Given the description of an element on the screen output the (x, y) to click on. 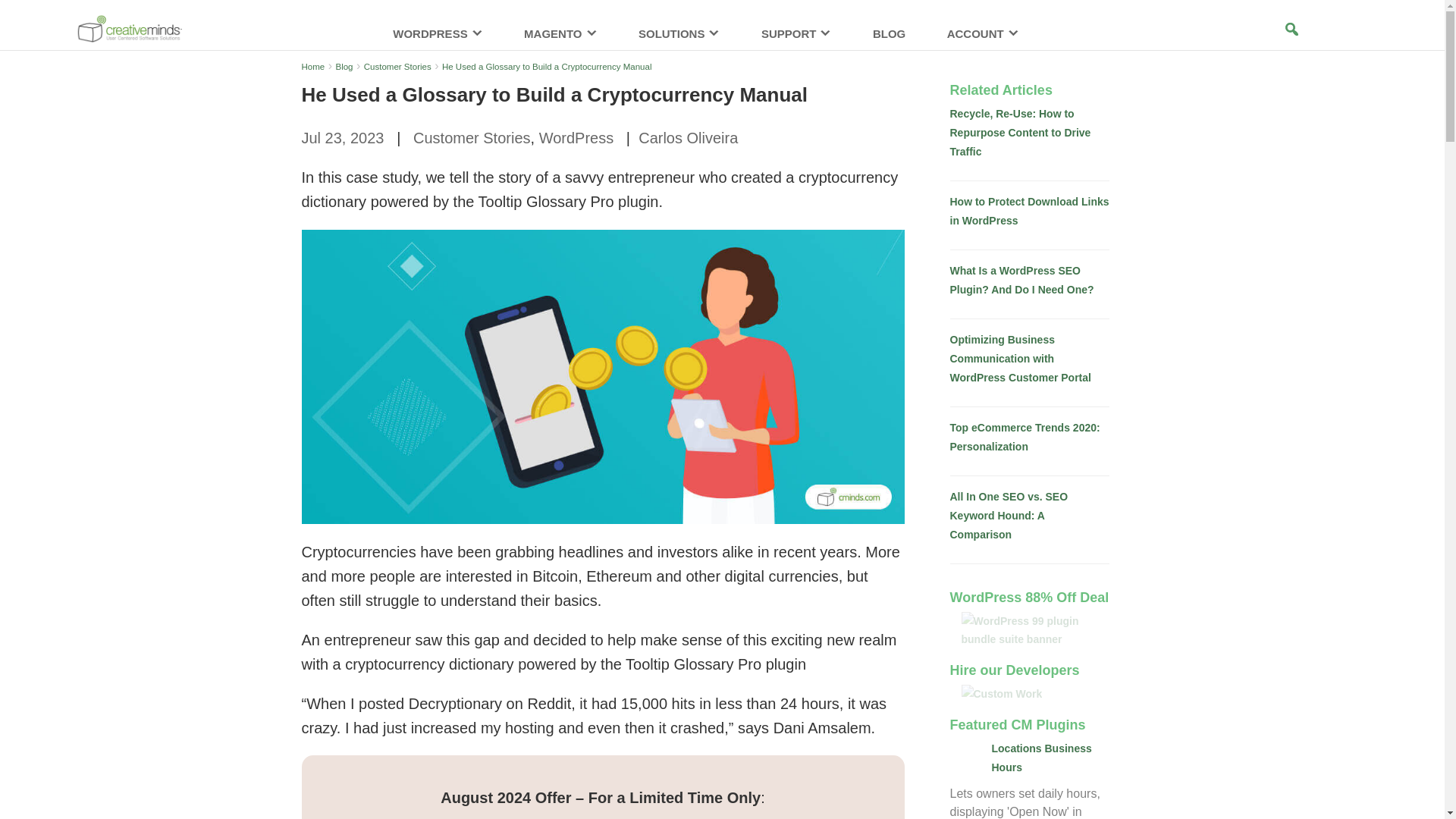
Permalink to Top eCommerce Trends 2020: Personalization (1024, 436)
Customer Stories (397, 66)
Carlos Oliveira (688, 137)
Customer Stories (472, 137)
WORDPRESS (437, 40)
SOLUTIONS (679, 40)
WordPress (576, 137)
Locations Business Hours (1041, 757)
Home (312, 66)
Carlos Oliveira (688, 137)
He Used a Glossary to Build a Cryptocurrency Manual (547, 66)
ACCOUNT (983, 40)
